Given the description of an element on the screen output the (x, y) to click on. 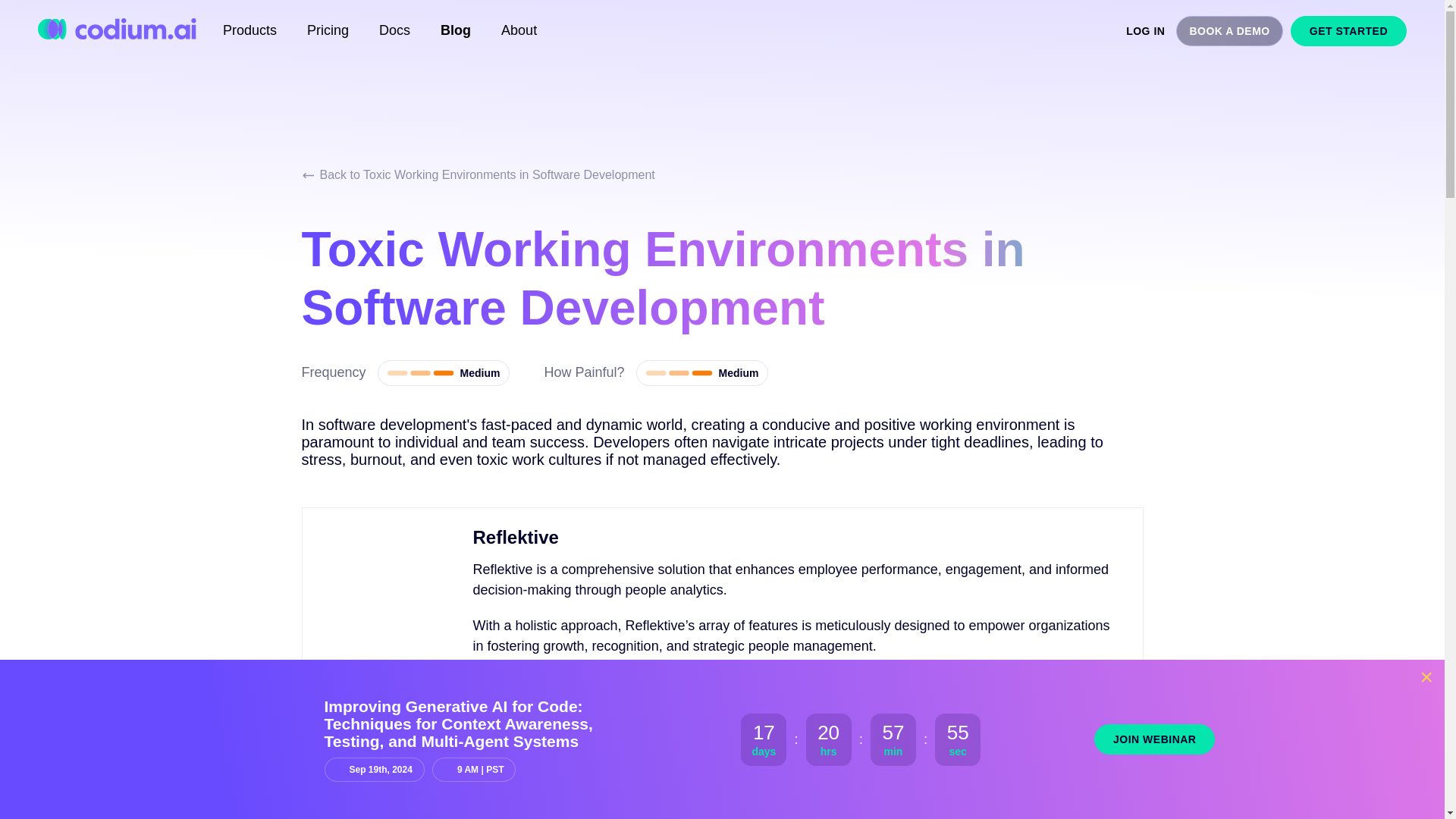
LOG IN (1145, 30)
Docs (394, 29)
Blog (455, 29)
Products (249, 30)
Pricing (328, 29)
About (518, 30)
BOOK A DEMO (1229, 30)
GET STARTED (1348, 30)
Back to Toxic Working Environments in Software Development (478, 174)
